Given the description of an element on the screen output the (x, y) to click on. 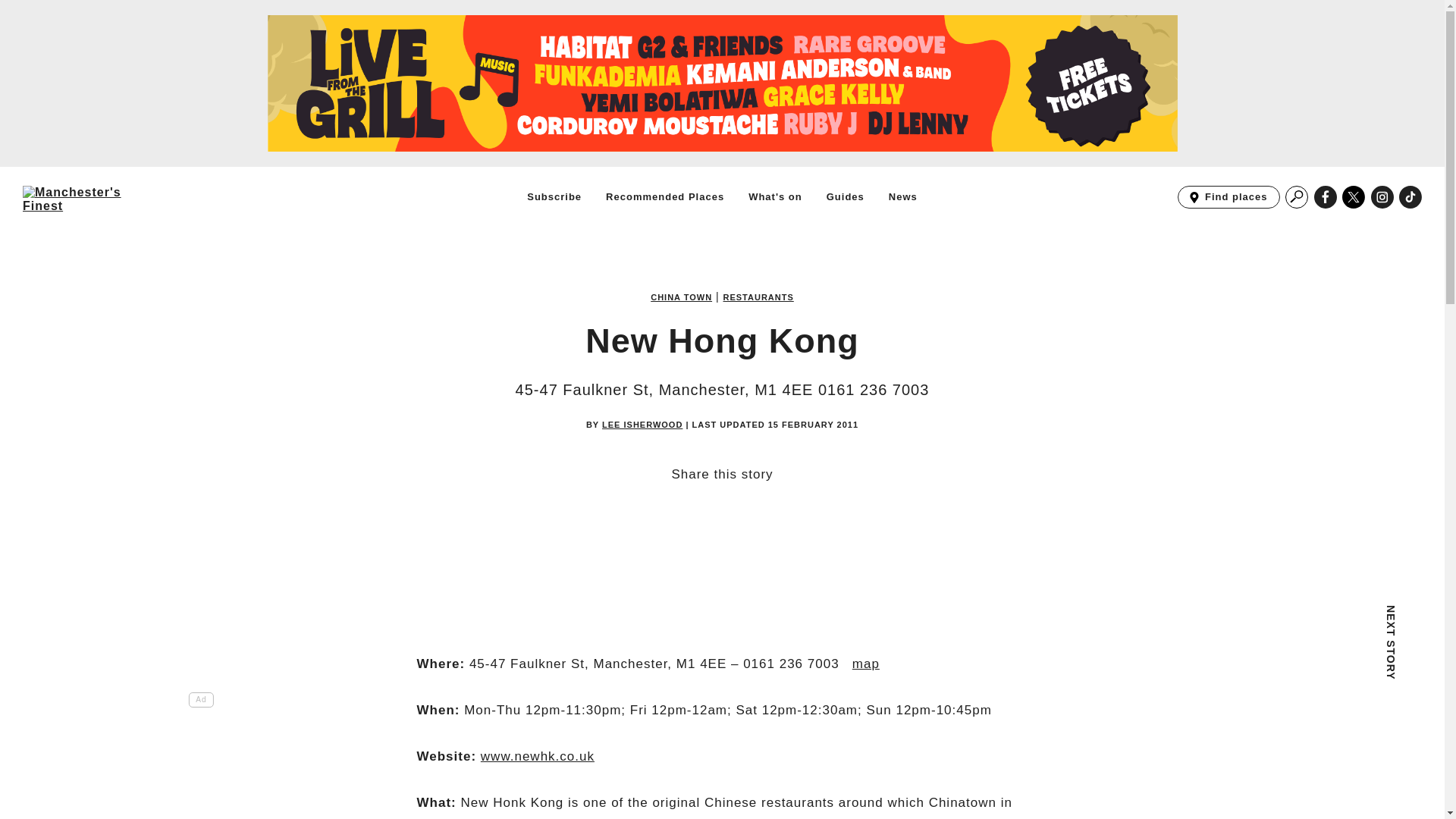
Go to Manchester's Finest Facebook page (1325, 196)
Go to Manchester's Finest X profile (1353, 196)
Subscribe (553, 196)
NewHongKongMap (865, 663)
RESTAURANTS (758, 297)
News (902, 196)
Guides (845, 196)
Go to Manchester's Finest Facebook page (1325, 196)
What's on (775, 196)
Go to Manchester's Finest X profile (1353, 196)
